Given the description of an element on the screen output the (x, y) to click on. 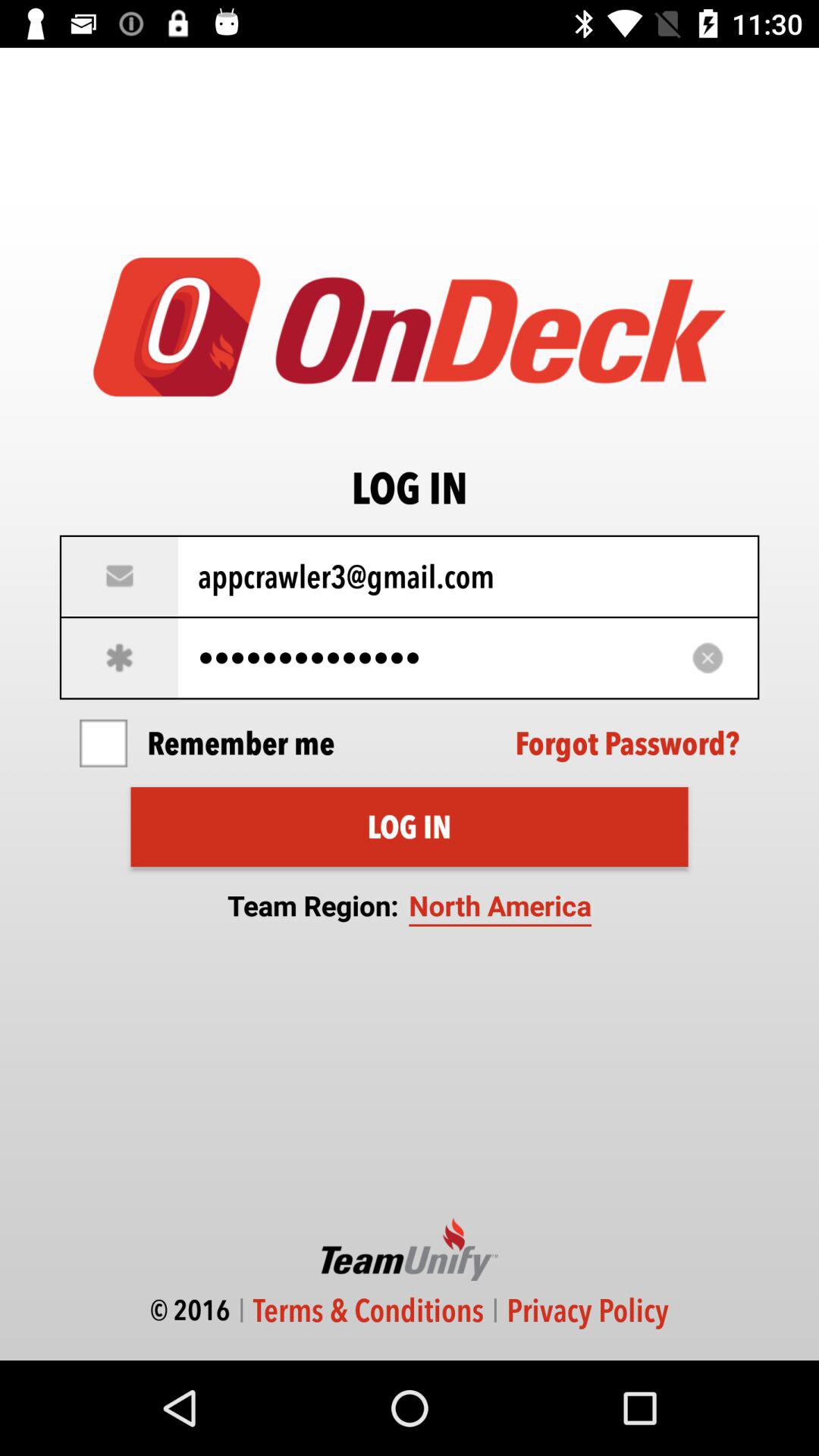
remember login for next time (103, 743)
